Given the description of an element on the screen output the (x, y) to click on. 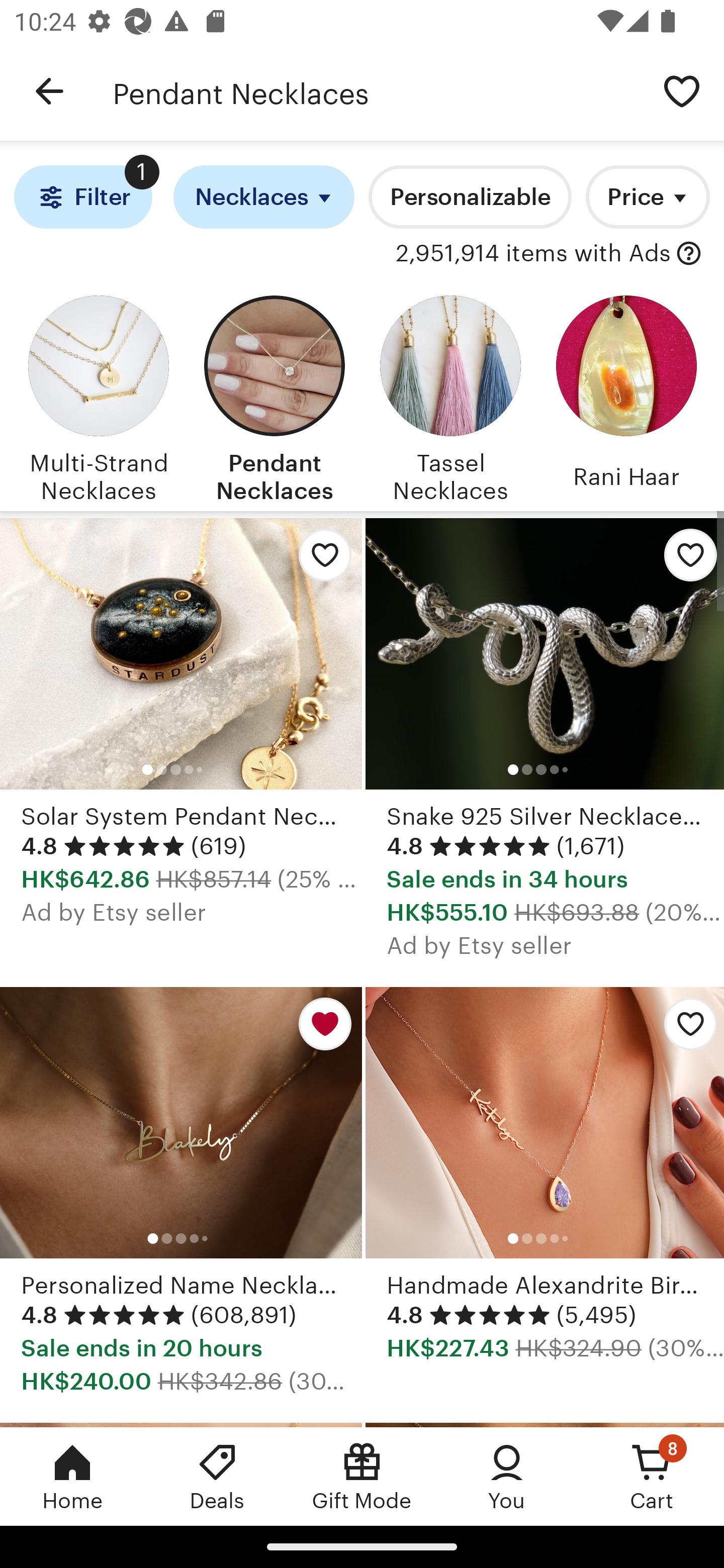
Navigate up (49, 91)
Save search (681, 90)
Pendant Necklaces (375, 91)
Filter (82, 197)
Necklaces (263, 197)
Personalizable (469, 197)
Price (647, 197)
2,951,914 items with Ads (533, 253)
with Ads (688, 253)
Multi-Strand Necklaces (97, 395)
Pendant Necklaces (273, 395)
Tassel Necklaces (449, 395)
Rani Haar (625, 395)
Deals (216, 1475)
Gift Mode (361, 1475)
You (506, 1475)
Cart, 8 new notifications Cart (651, 1475)
